Given the description of an element on the screen output the (x, y) to click on. 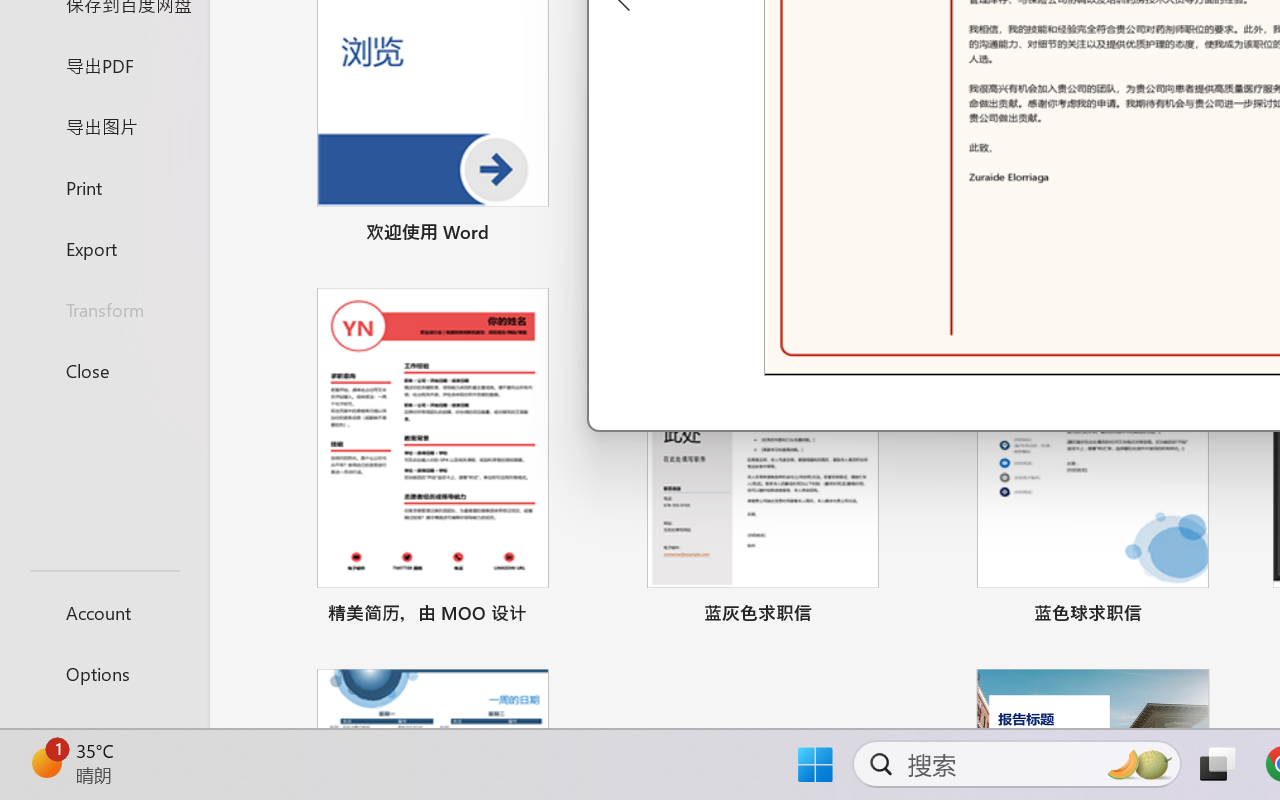
Pin to list (1223, 616)
